Given the description of an element on the screen output the (x, y) to click on. 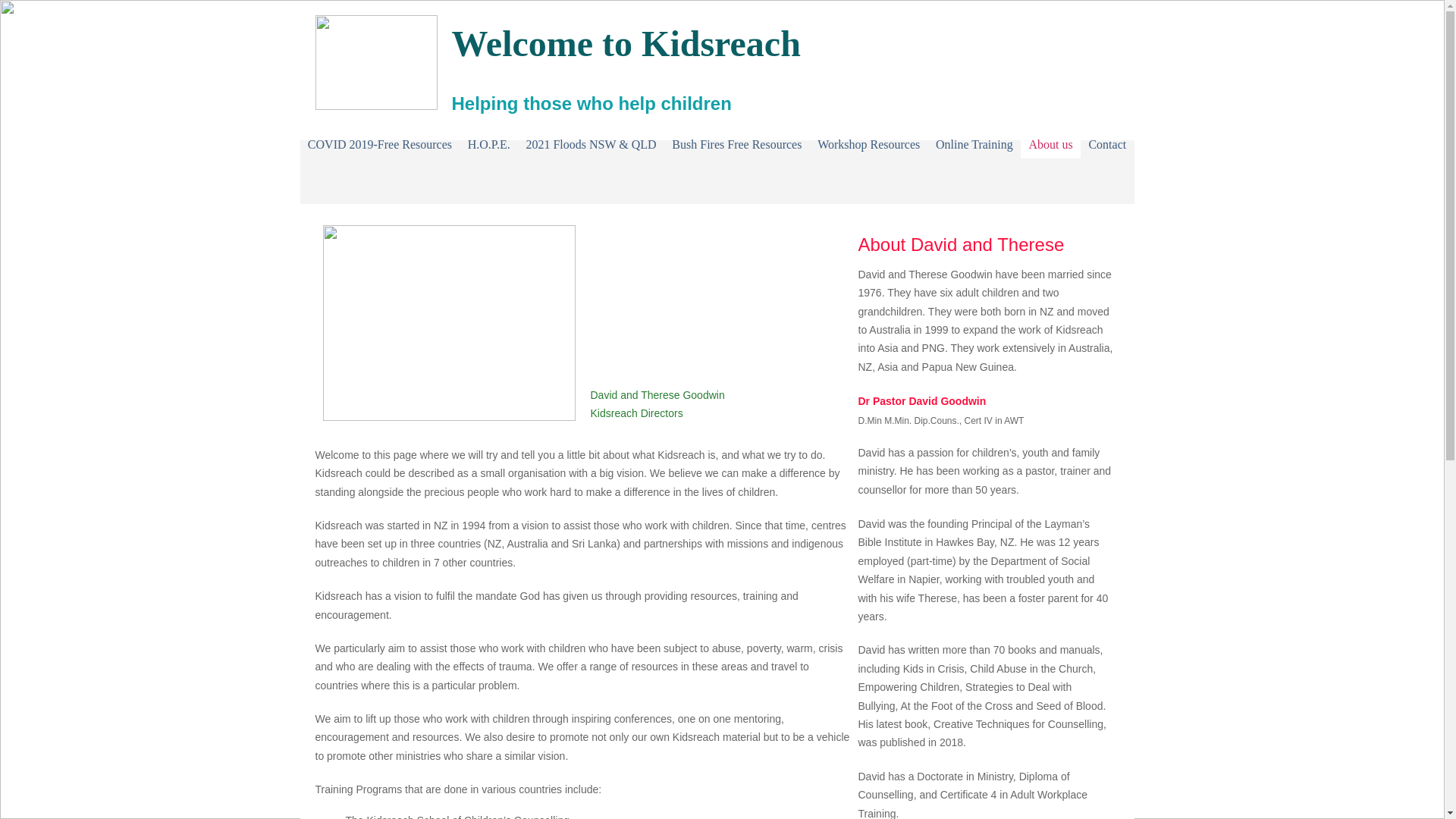
About us (1050, 144)
Bush Fires Free Resources (736, 144)
COVID 2019-Free Resources (379, 144)
Contact (1107, 144)
Online Training (975, 144)
Workshop Resources (868, 144)
H.O.P.E. (489, 144)
